Given the description of an element on the screen output the (x, y) to click on. 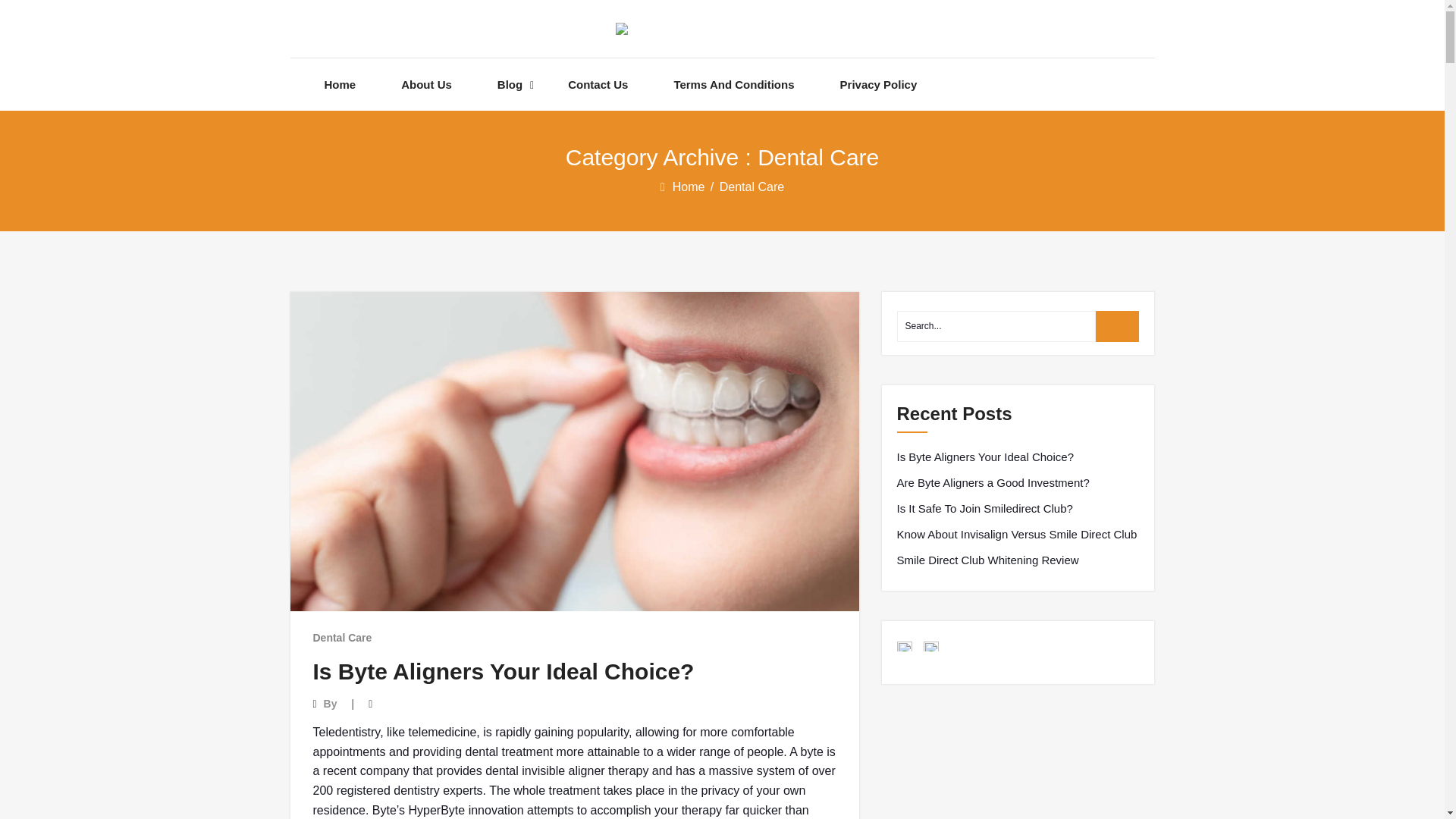
Search (1118, 326)
Home (689, 186)
Dental Care (342, 637)
Search (1118, 326)
Contact Us (597, 84)
Privacy Policy (878, 84)
Terms And Conditions (732, 84)
Is Byte Aligners Your Ideal Choice? (503, 671)
About Us (426, 84)
